Given the description of an element on the screen output the (x, y) to click on. 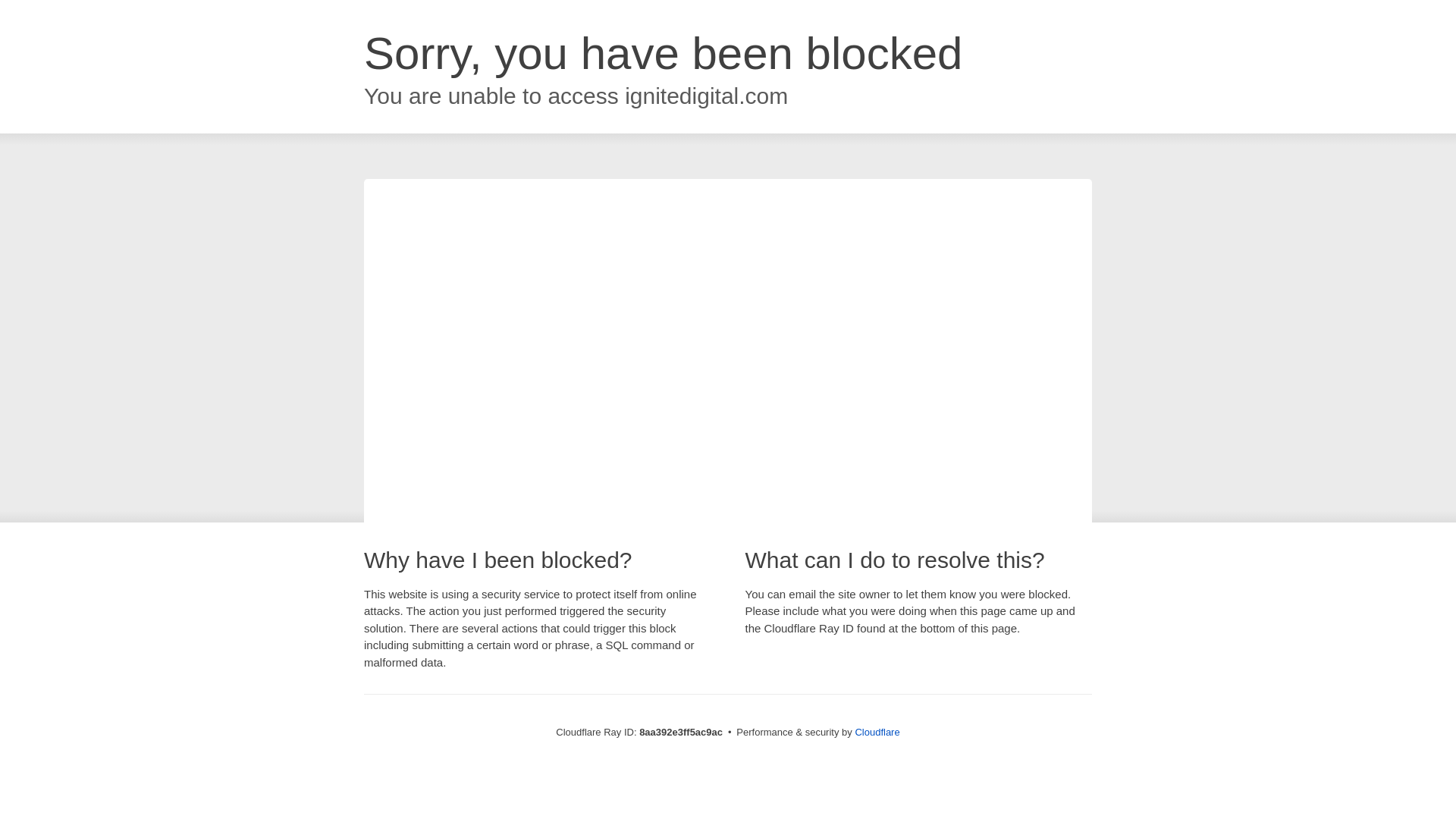
Cloudflare (876, 731)
